Given the description of an element on the screen output the (x, y) to click on. 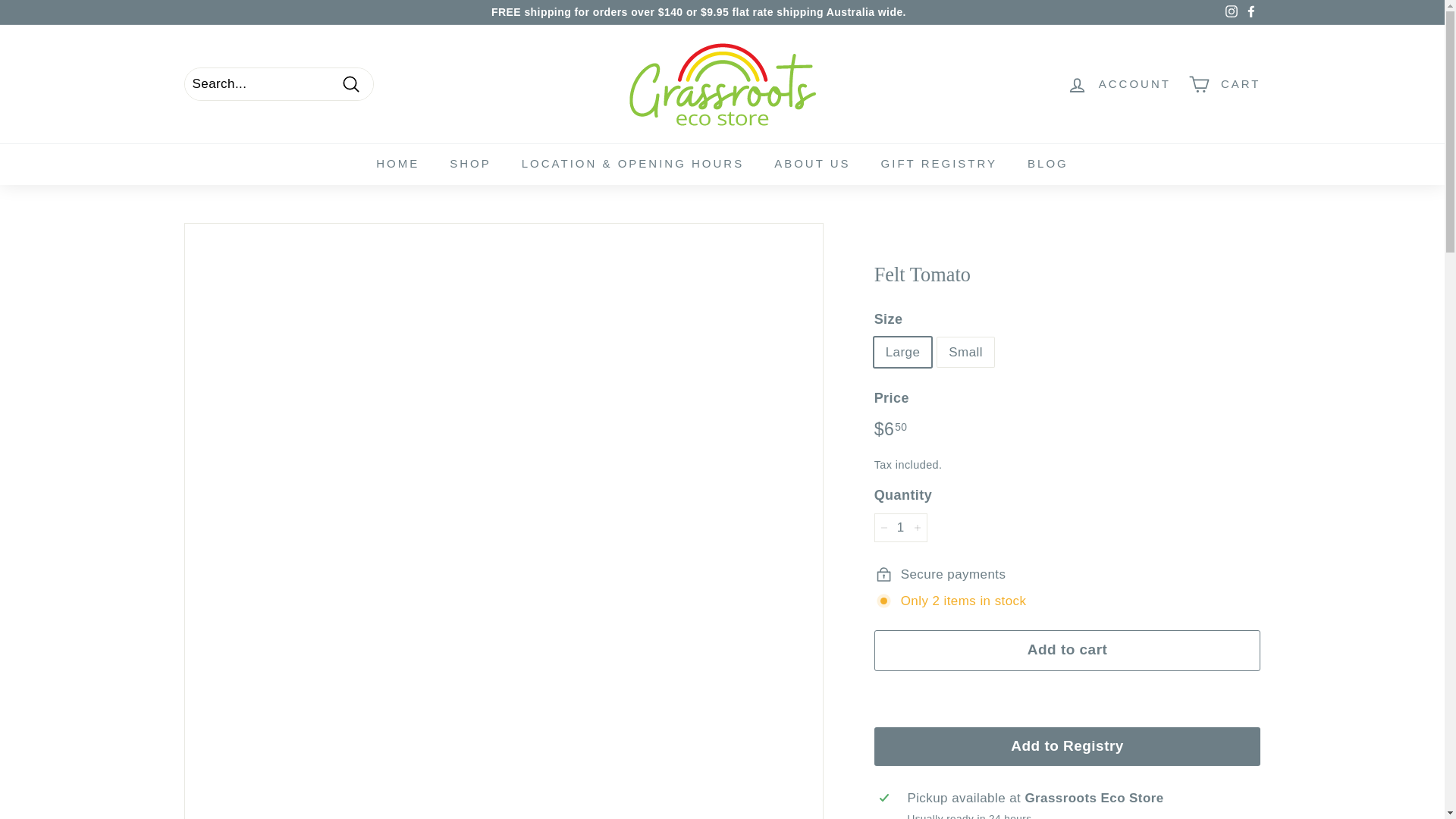
BLOG (1047, 164)
SHOP (469, 164)
Add to Registry (1067, 746)
GIFT REGISTRY (938, 164)
ABOUT US (811, 164)
ACCOUNT (1118, 84)
1 (901, 527)
HOME (397, 164)
